Given the description of an element on the screen output the (x, y) to click on. 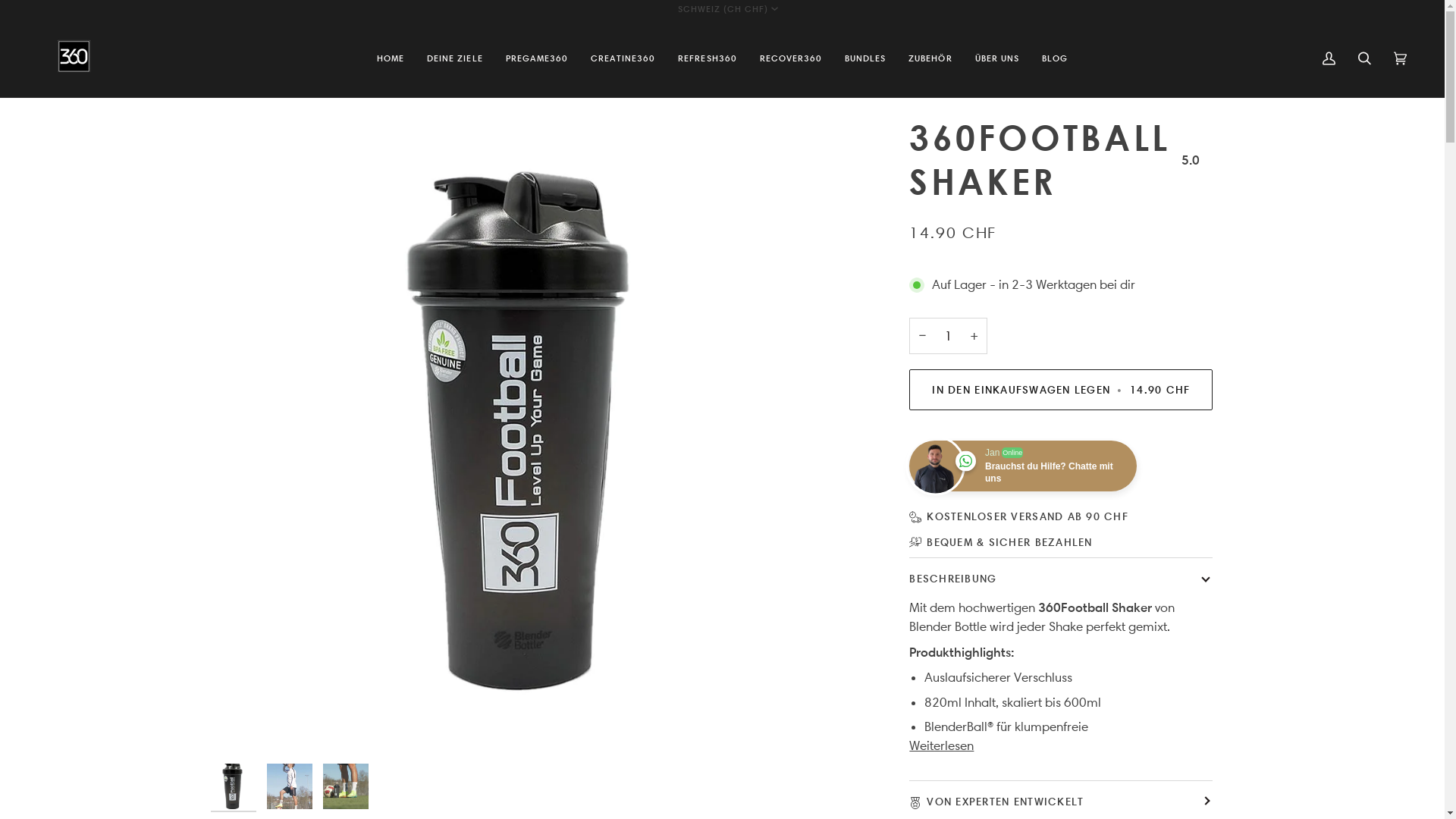
REFRESH360 Element type: text (706, 57)
JanOnline
Brauchst du Hilfe? Chatte mit uns Element type: text (1022, 465)
Suchen Element type: text (1364, 57)
PREGAME360 Element type: text (536, 57)
+ Element type: text (973, 335)
BLOG Element type: text (1054, 57)
SCHWEIZ (CH CHF) Element type: text (728, 9)
Einkaufswagen
(0) Element type: text (1400, 57)
HOME Element type: text (390, 57)
BUNDLES Element type: text (865, 57)
Weiterlesen Element type: text (941, 746)
DEINE ZIELE Element type: text (454, 57)
BESCHREIBUNG Element type: text (1060, 578)
Mein Account Element type: text (1328, 57)
RECOVER360 Element type: text (790, 57)
CREATINE360 Element type: text (622, 57)
